Given the description of an element on the screen output the (x, y) to click on. 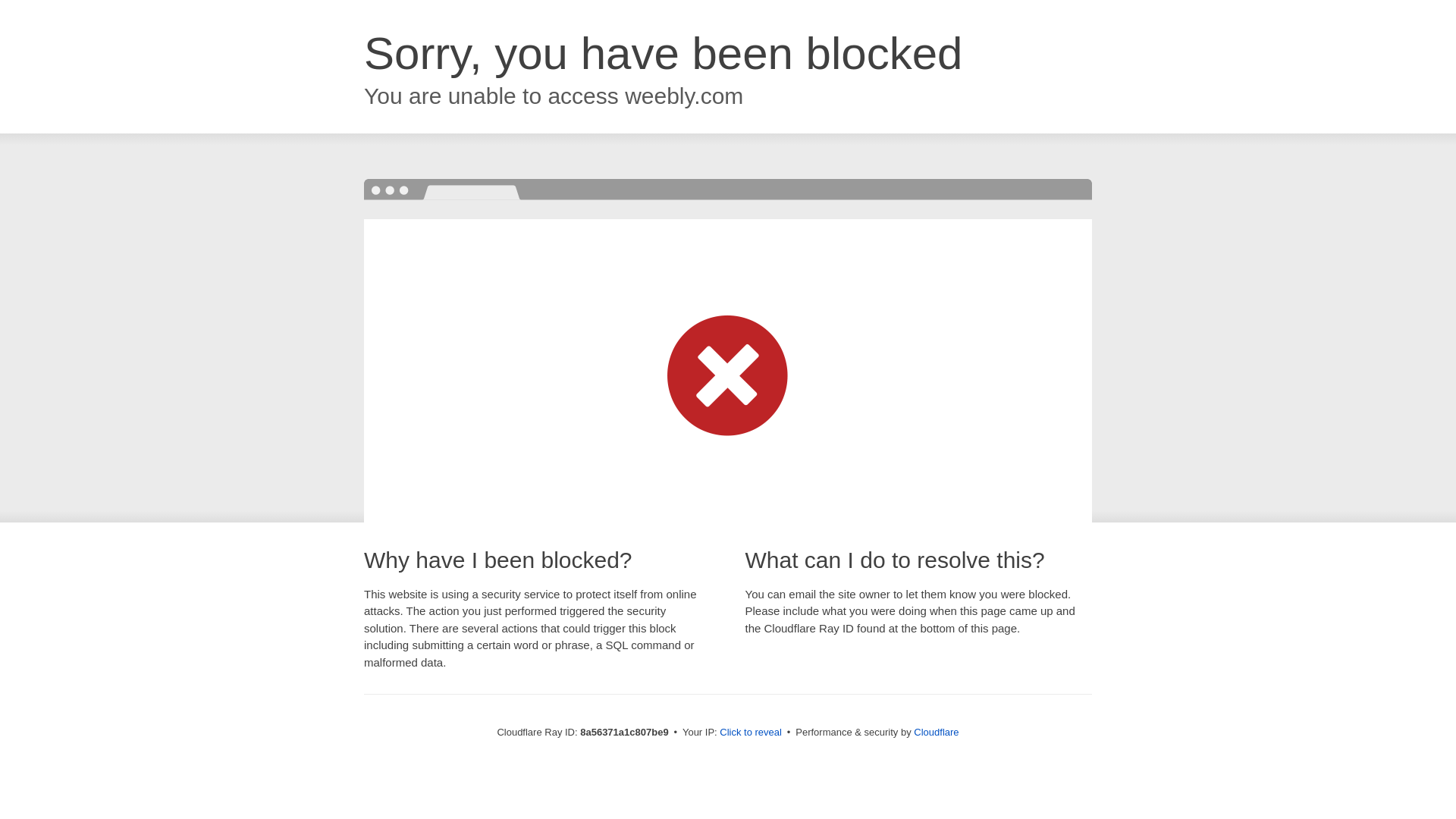
Click to reveal (750, 732)
Cloudflare (936, 731)
